Given the description of an element on the screen output the (x, y) to click on. 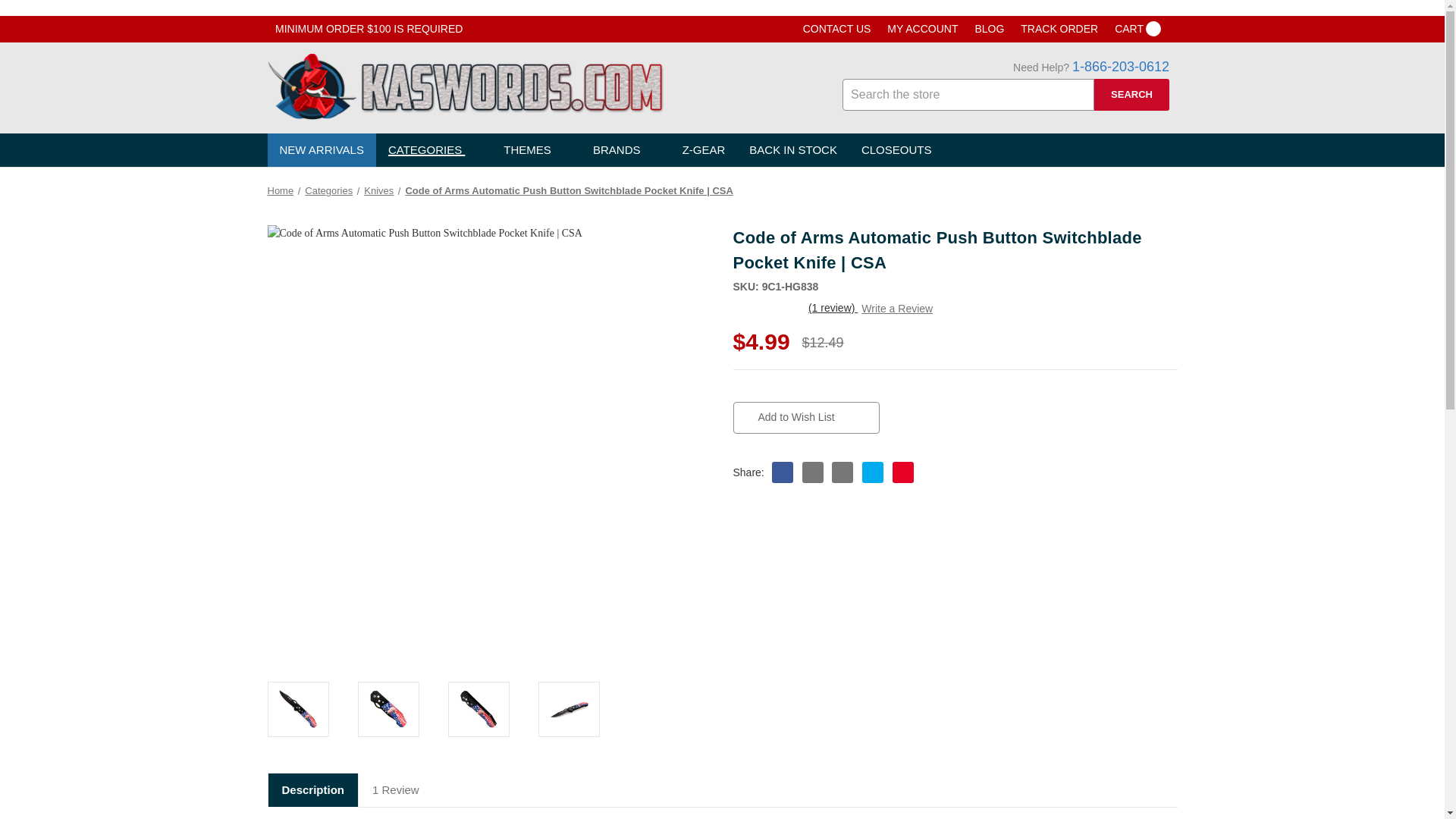
CART (1137, 28)
1-866-203-0612 (1120, 66)
CONTACT US (836, 28)
TRACK ORDER (1058, 28)
CATEGORIES (433, 150)
Print (840, 472)
Twitter (870, 472)
Facebook (780, 472)
NEW ARRIVALS (320, 150)
MY ACCOUNT (922, 28)
SEARCH (1131, 94)
Pinterest (901, 472)
BLOG (988, 28)
Kaswords.com (464, 87)
Email (811, 472)
